Given the description of an element on the screen output the (x, y) to click on. 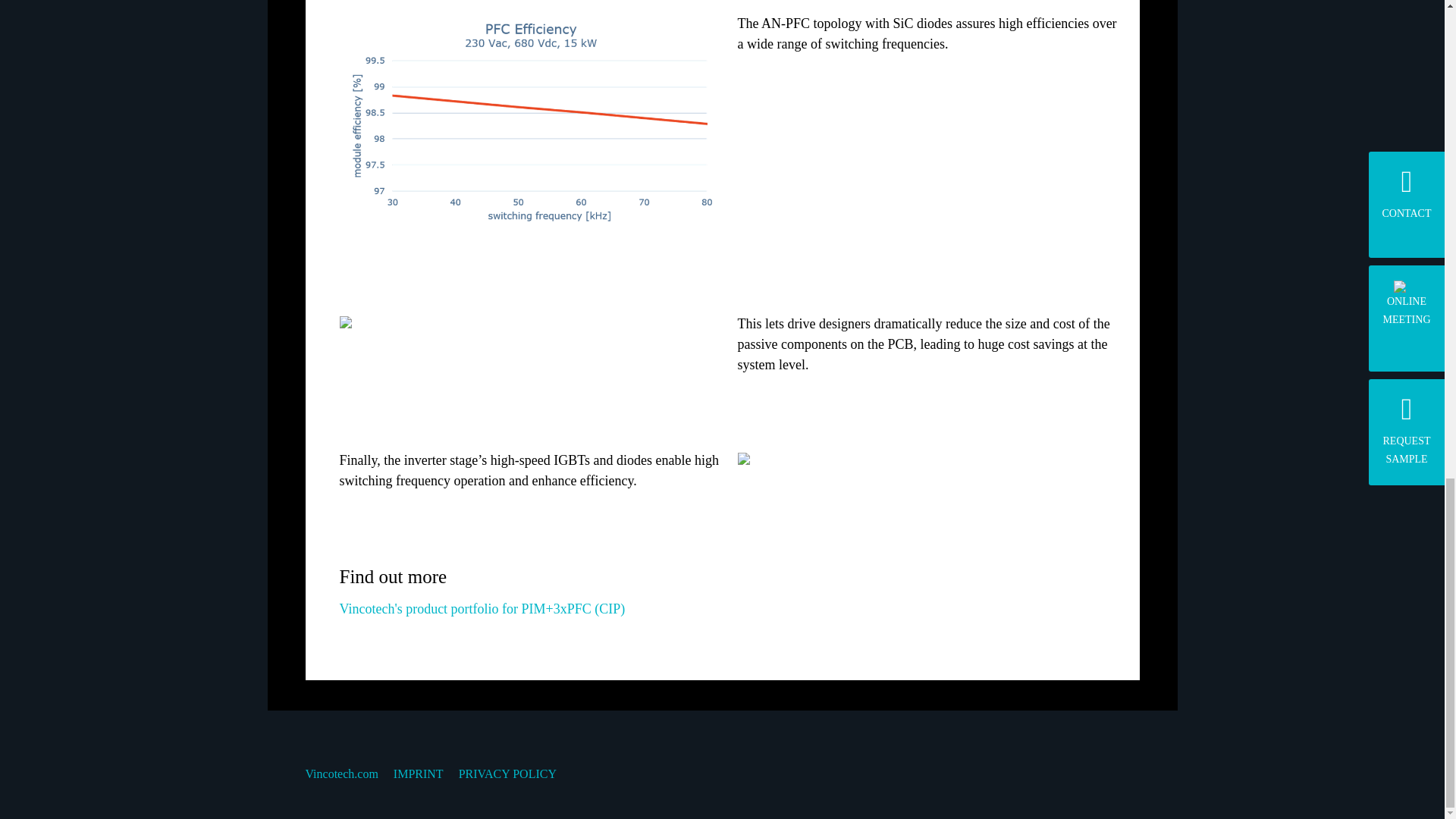
Vincotech.com (340, 773)
PRIVACY POLICY (507, 773)
IMPRINT (418, 773)
